Given the description of an element on the screen output the (x, y) to click on. 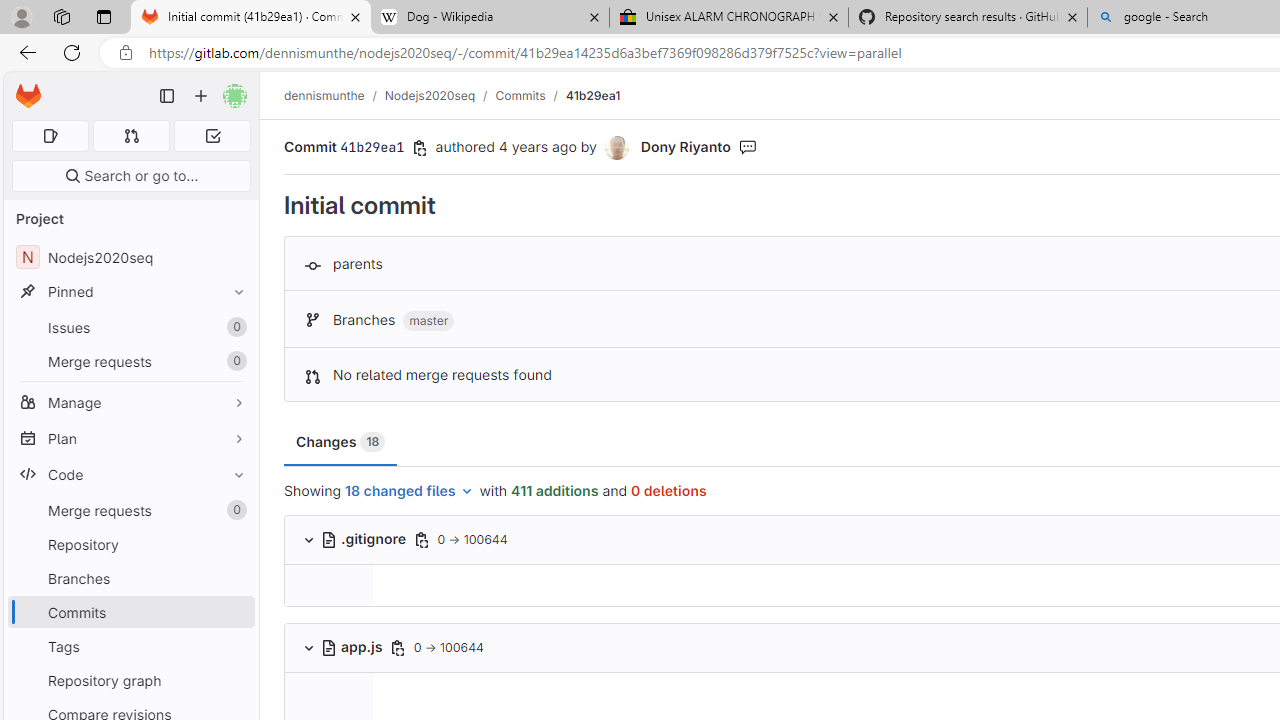
Dog - Wikipedia (490, 17)
Commits (520, 95)
Repository graph (130, 679)
Assigned issues 0 (50, 136)
Repository (130, 543)
Plan (130, 438)
18 changed files (410, 491)
Tags (130, 646)
